Given the description of an element on the screen output the (x, y) to click on. 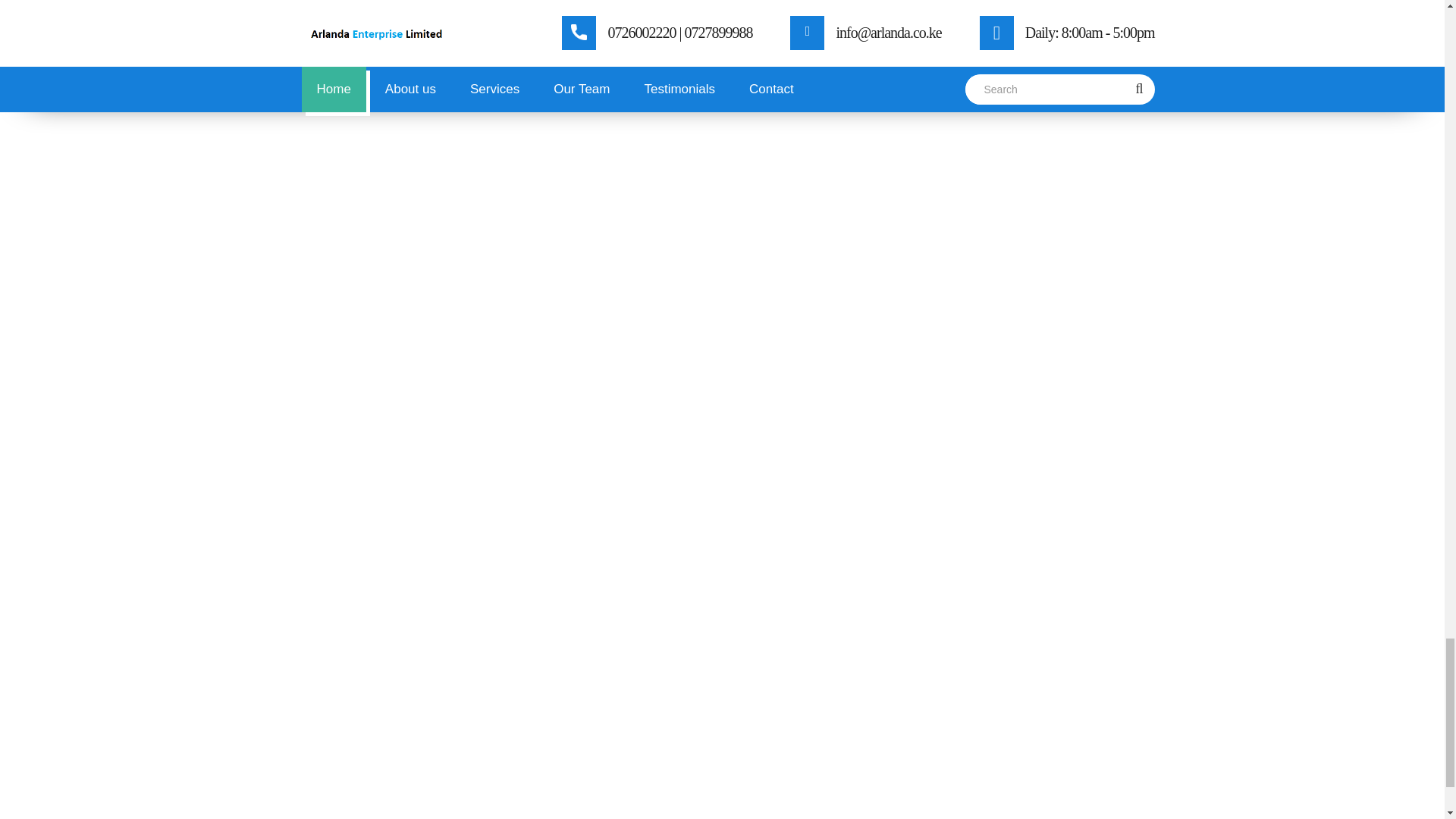
Send Message (288, 552)
